Given the description of an element on the screen output the (x, y) to click on. 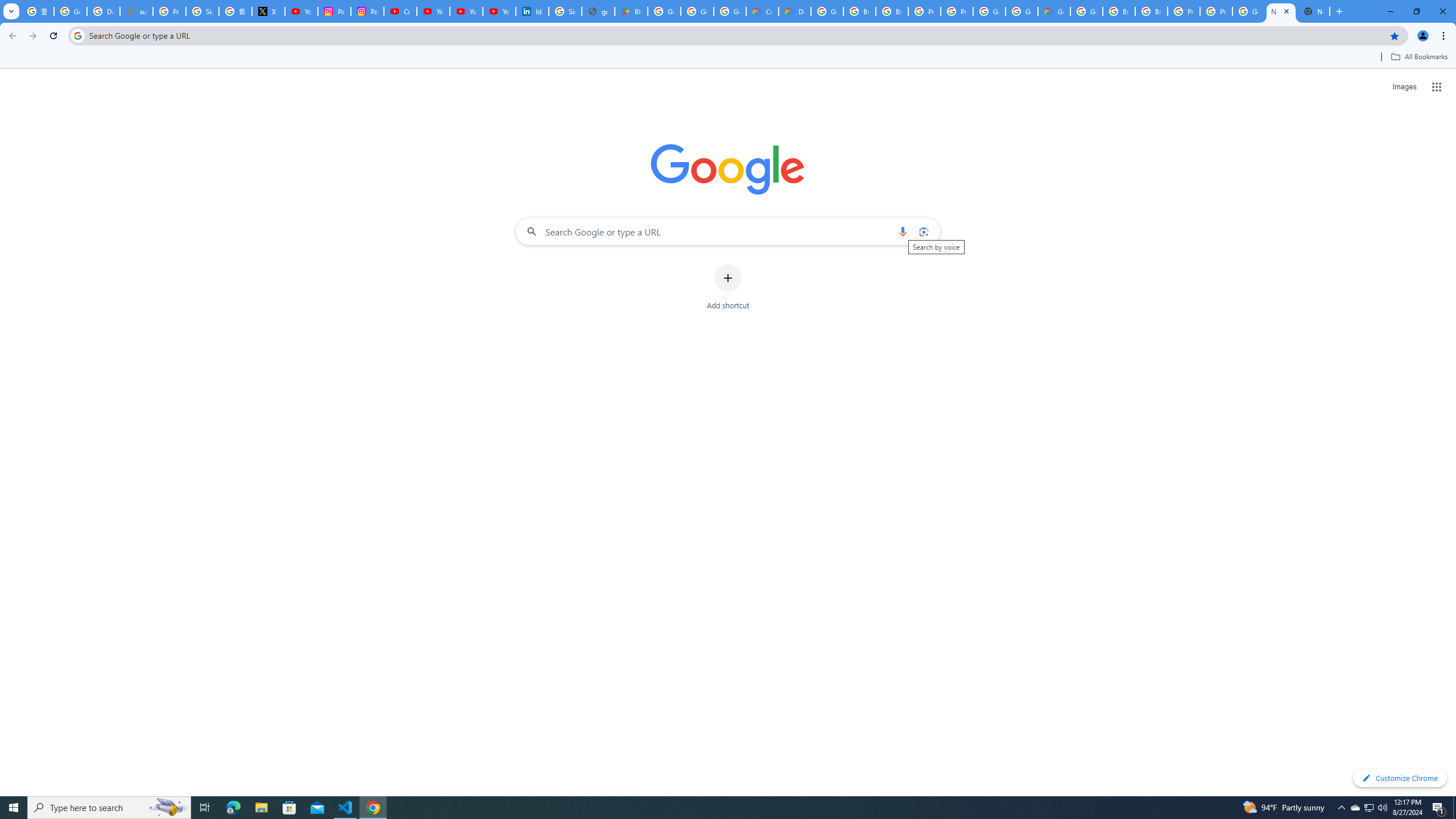
Google Workspace - Specific Terms (697, 11)
Customize Chrome (1399, 778)
Google Workspace - Specific Terms (730, 11)
Browse Chrome as a guest - Computer - Google Chrome Help (891, 11)
google_privacy_policy_en.pdf (598, 11)
Search for Images  (1403, 87)
Google Cloud Platform (1021, 11)
Google Cloud Platform (989, 11)
